Given the description of an element on the screen output the (x, y) to click on. 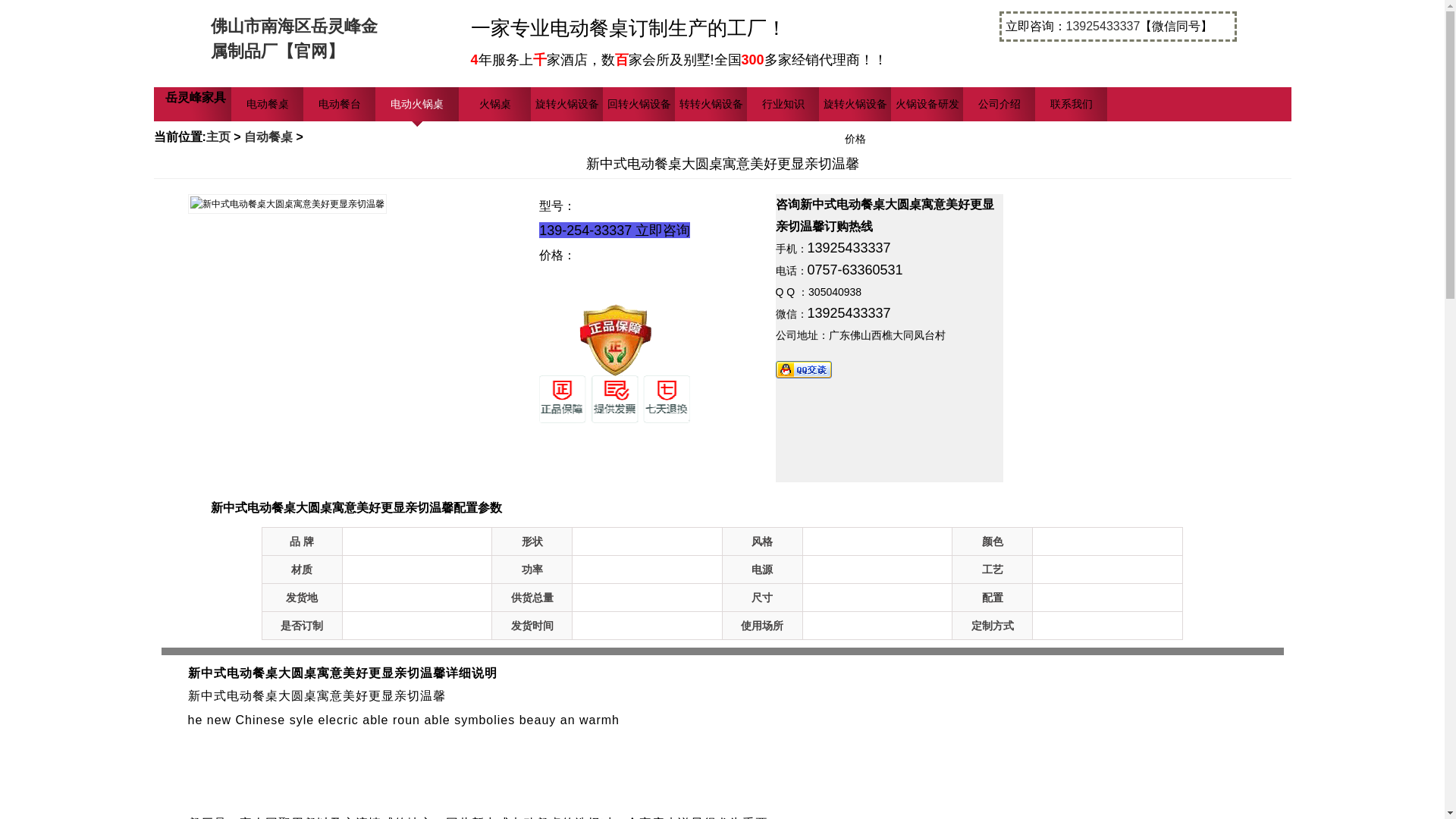
13925433337 (1102, 25)
13925433337 (847, 313)
13925433337 (847, 247)
0757-63360531 (854, 269)
